Given the description of an element on the screen output the (x, y) to click on. 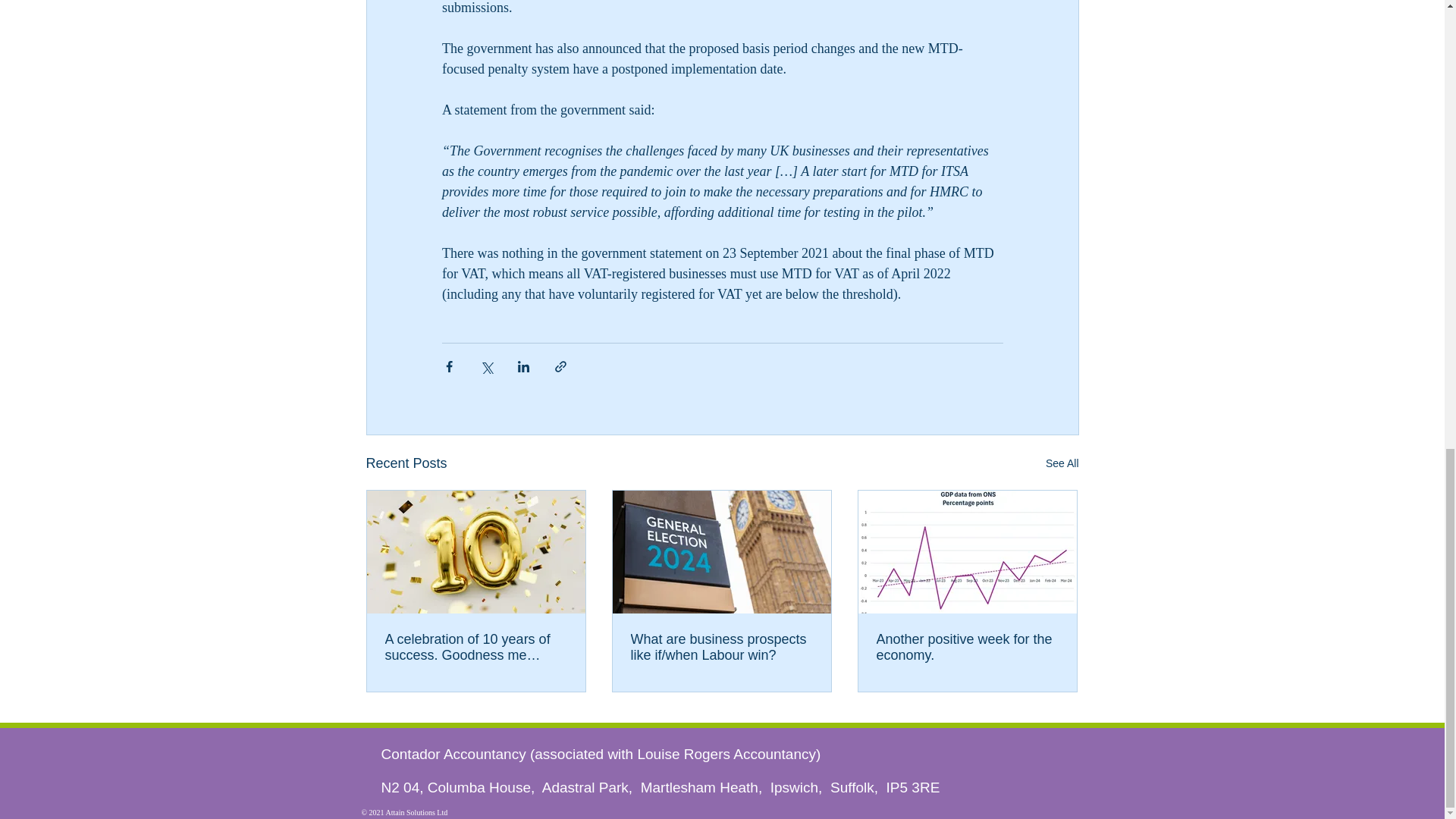
See All (1061, 463)
Another positive week for the economy. (967, 647)
